Given the description of an element on the screen output the (x, y) to click on. 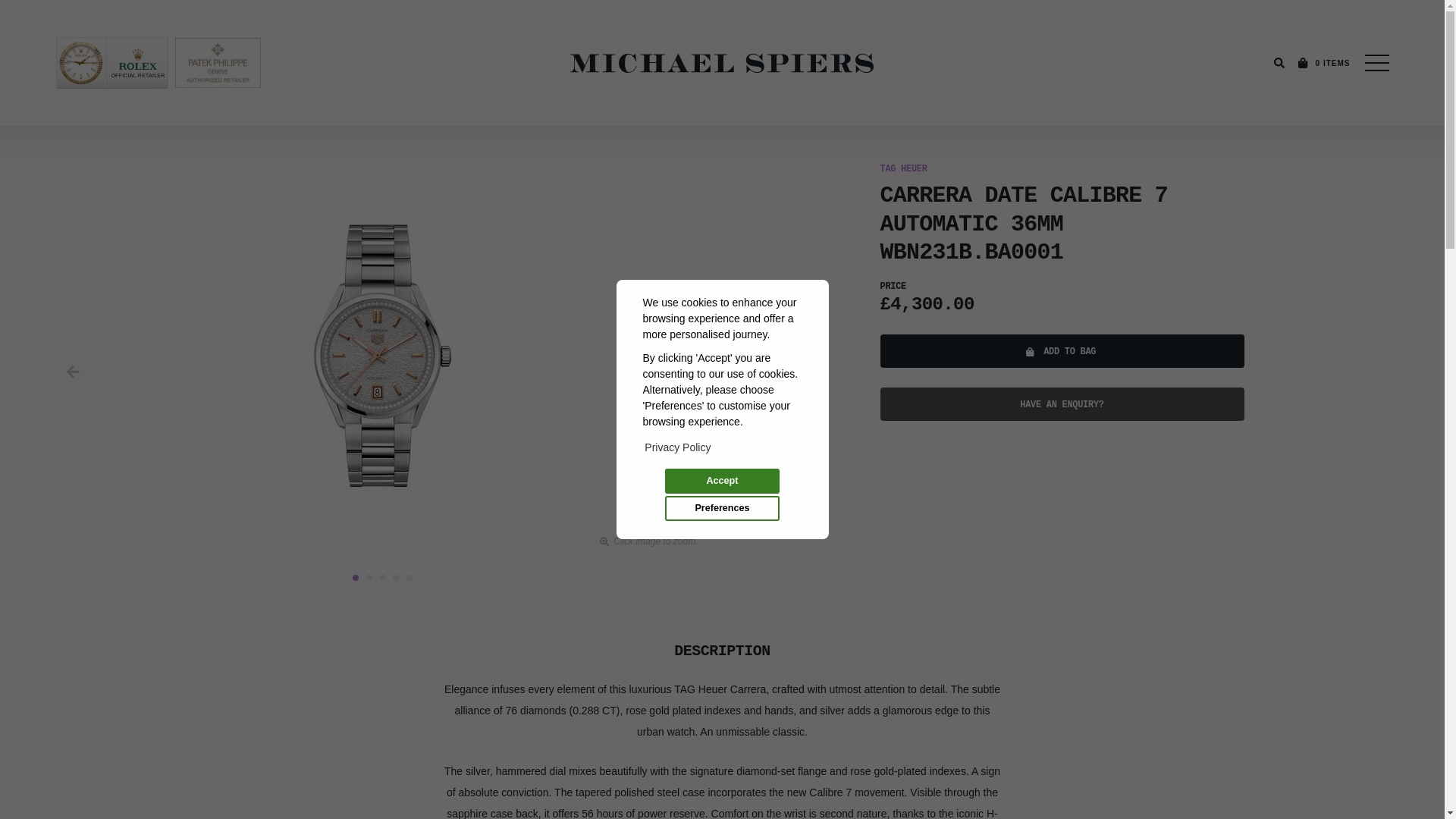
ADD TO BAG (1061, 349)
HAVE AN ENQUIRY? (1061, 403)
Rolex Official Retailer (111, 62)
0 ITEMS (1322, 63)
